Given the description of an element on the screen output the (x, y) to click on. 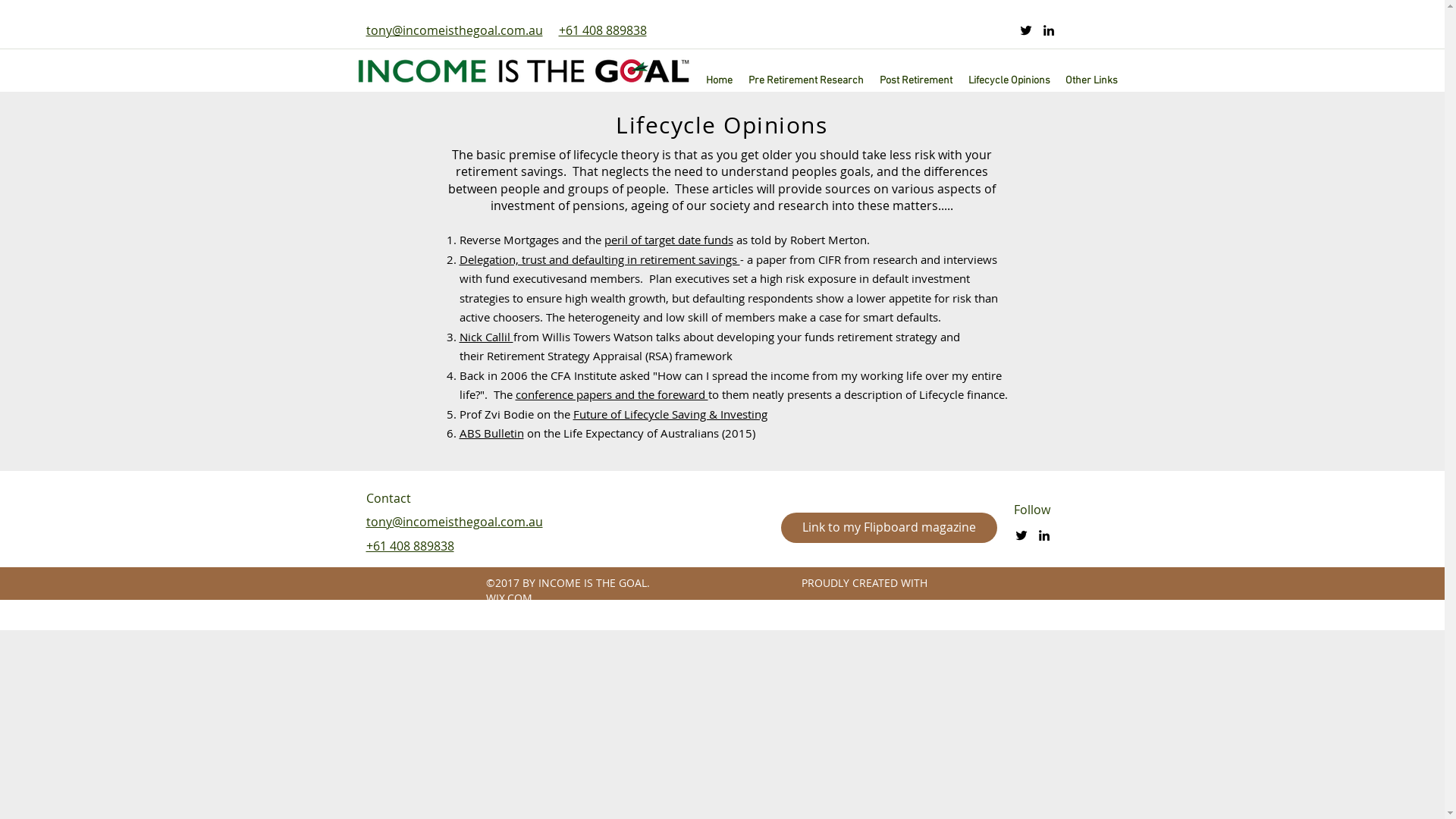
Other Links Element type: text (1090, 80)
peril of target date funds Element type: text (667, 239)
Post Retirement Element type: text (914, 80)
Lifecycle Opinions Element type: text (1008, 80)
conference papers and the foreward Element type: text (611, 393)
Delegation, trust and defaulting in retirement savings Element type: text (599, 258)
Link to my Flipboard magazine Element type: text (889, 527)
Pre Retirement Research Element type: text (805, 80)
Home Element type: text (718, 80)
+61 408 889838 Element type: text (409, 545)
+61 408 889838 Element type: text (602, 29)
Future of Lifecycle Saving & Investing Element type: text (670, 413)
Nick Callil Element type: text (486, 336)
1line_IITG_logo_rgb_b.png 2014-7-18-14:44:27 Element type: hover (523, 69)
tony@incomeisthegoal.com.au Element type: text (453, 521)
tony@incomeisthegoal.com.au Element type: text (453, 29)
ABS Bulletin Element type: text (491, 432)
Site Search Element type: hover (926, 29)
